Given the description of an element on the screen output the (x, y) to click on. 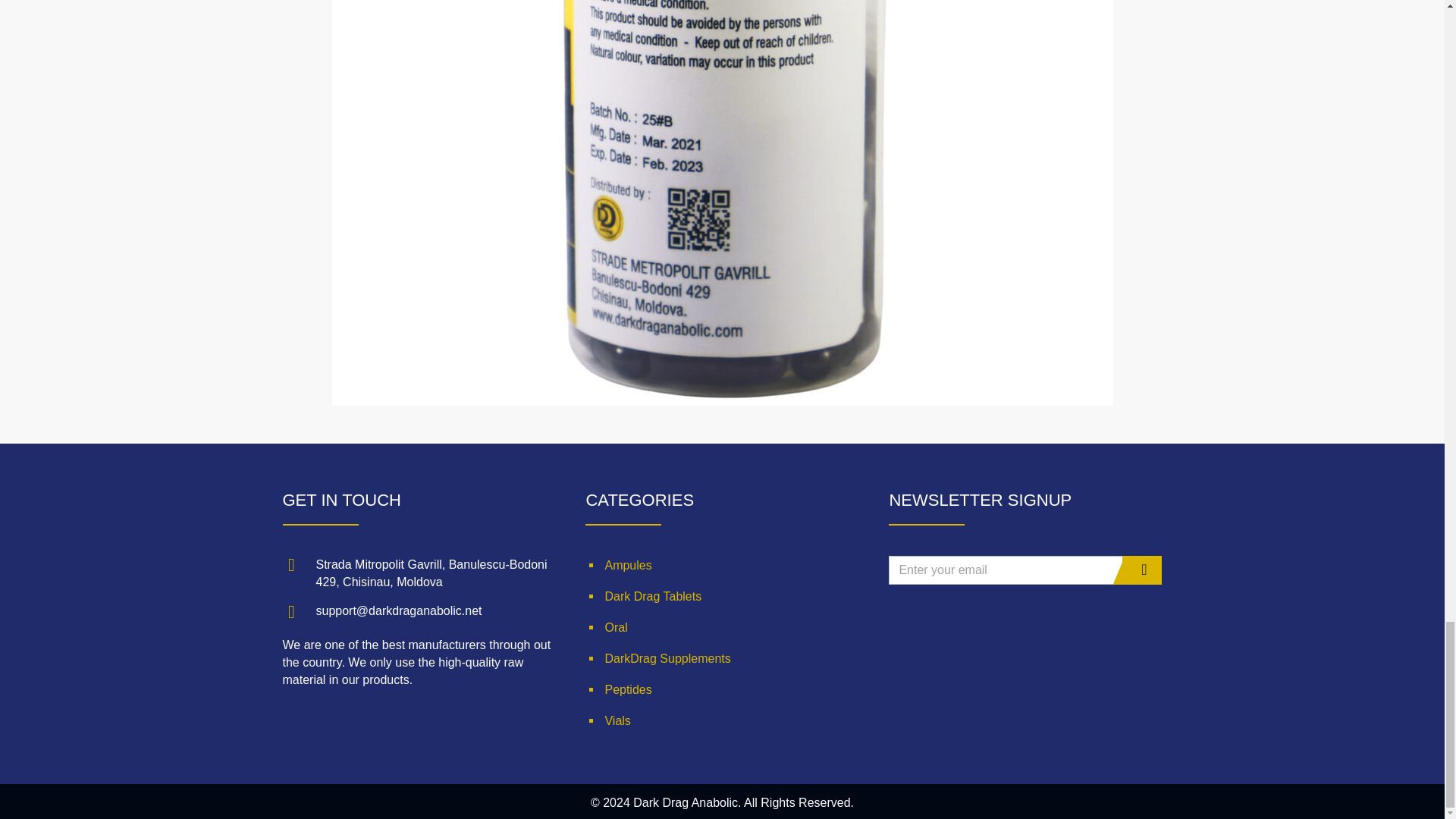
Vials (721, 720)
S (1141, 570)
DarkDrag Supplements (721, 658)
Oral (721, 626)
Ampules (721, 564)
Dark Drag Tablets (721, 596)
Peptides (721, 688)
